Given the description of an element on the screen output the (x, y) to click on. 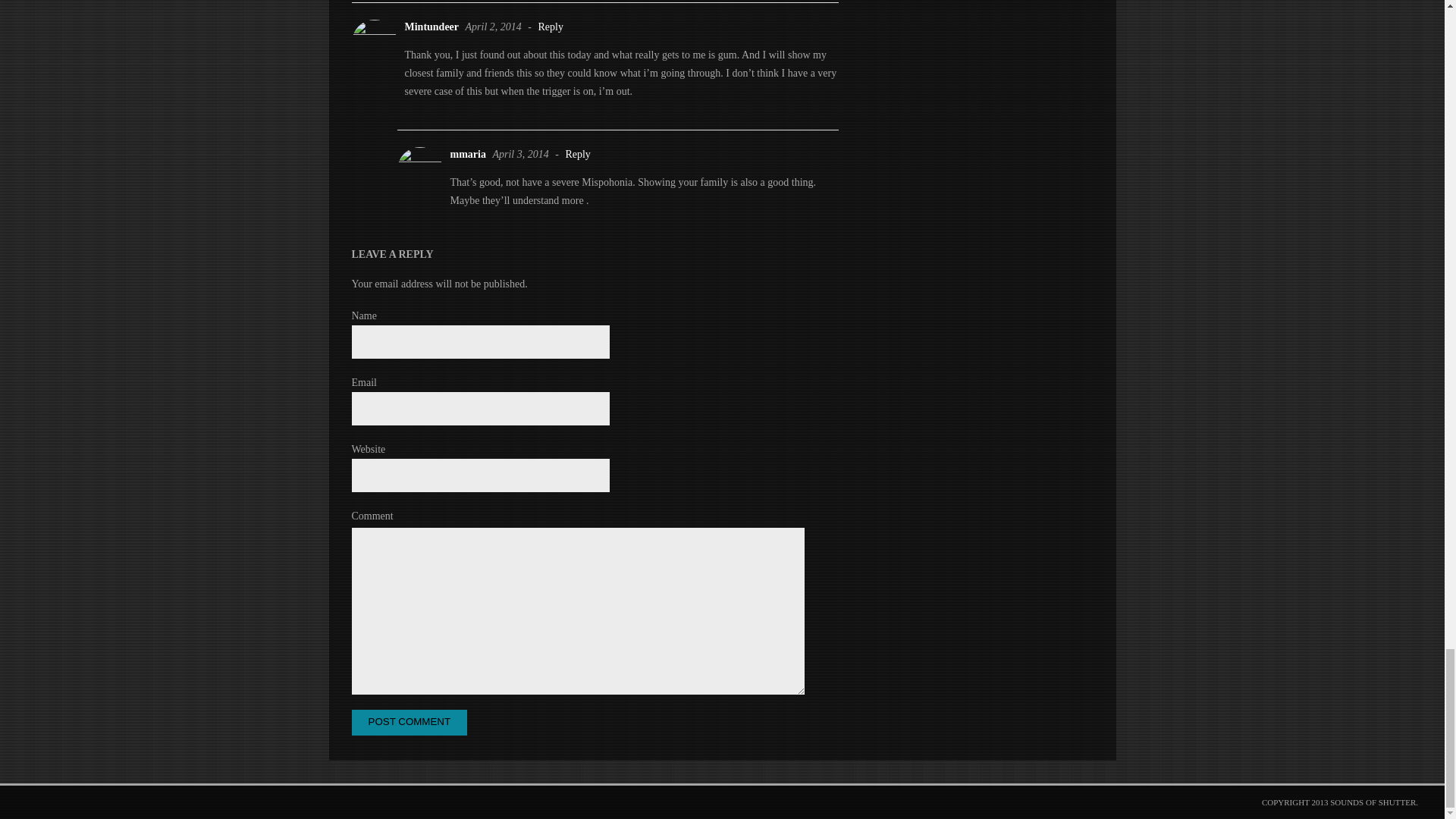
Post Comment (409, 722)
